Given the description of an element on the screen output the (x, y) to click on. 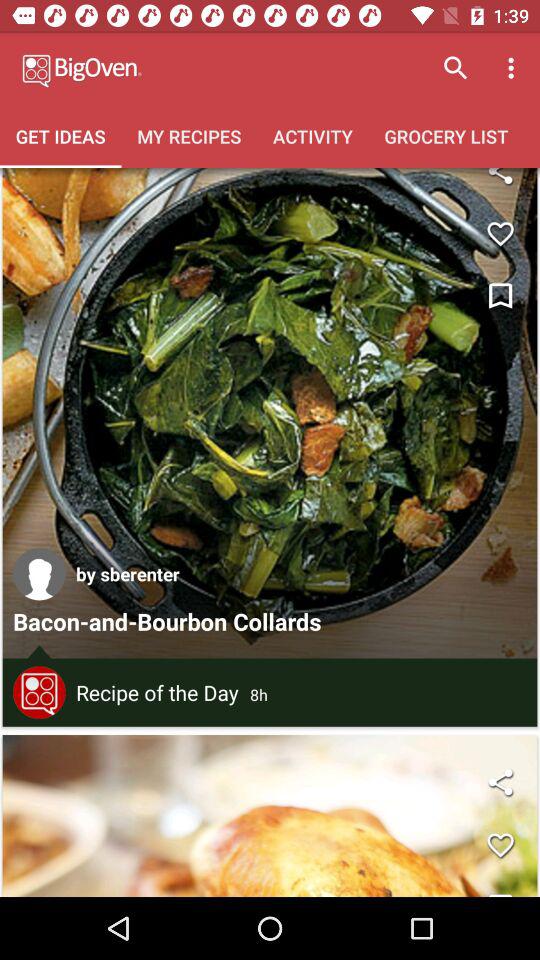
select any one (39, 573)
